Given the description of an element on the screen output the (x, y) to click on. 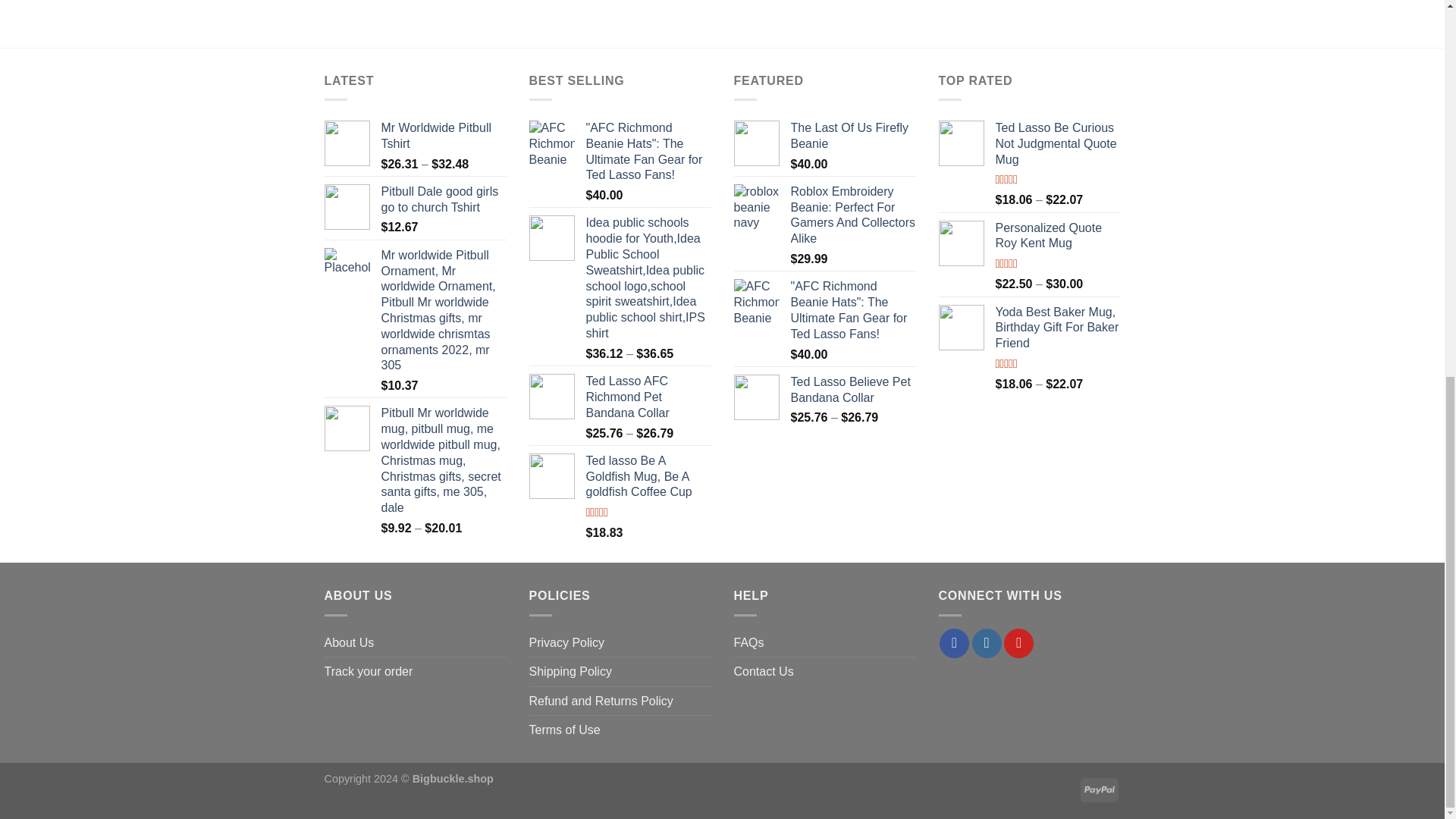
Follow on Pinterest (1018, 643)
Follow on Facebook (954, 643)
Follow on Instagram (986, 643)
